Given the description of an element on the screen output the (x, y) to click on. 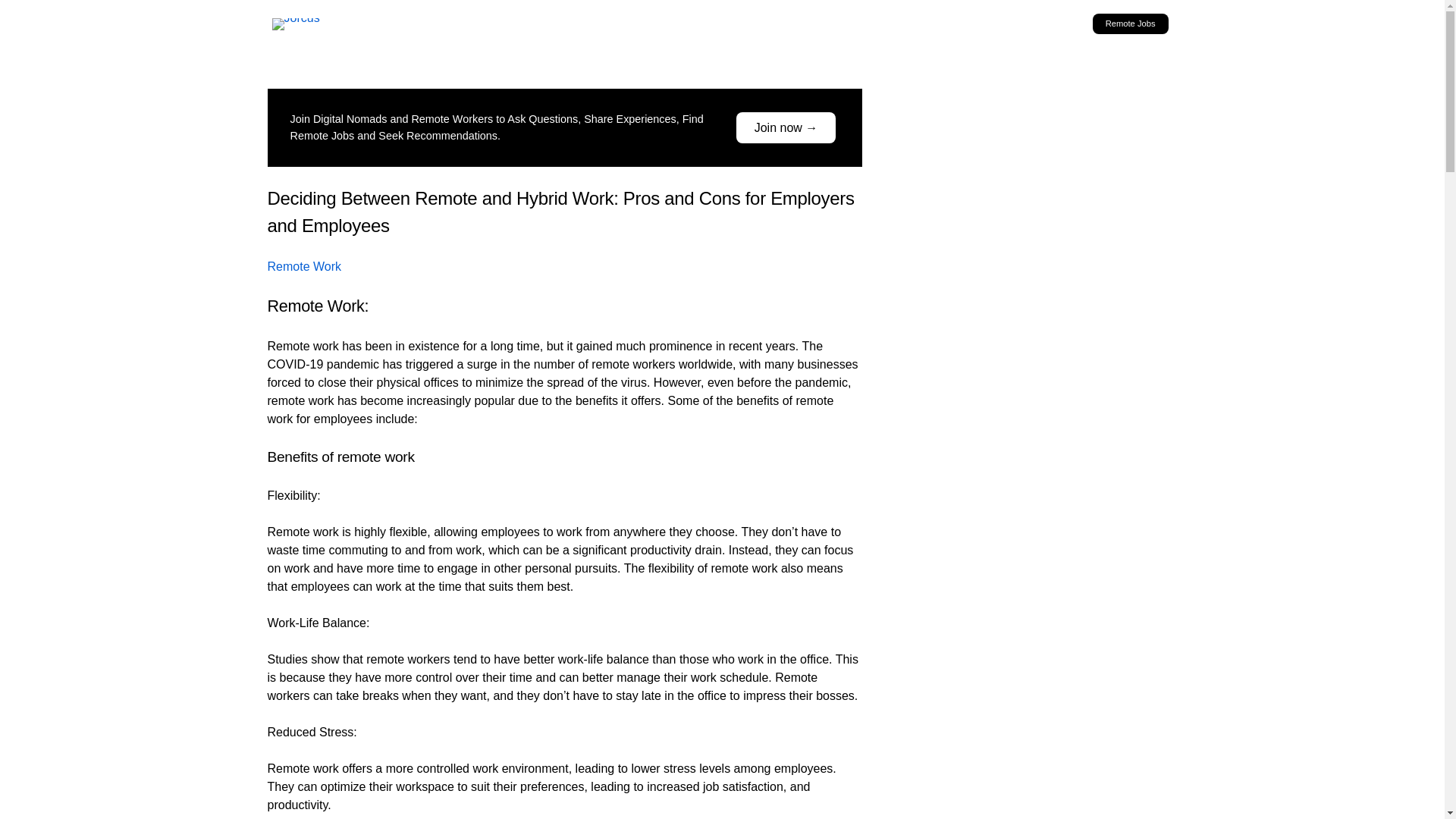
Remote Work (303, 266)
Remote Jobs (1131, 23)
